Given the description of an element on the screen output the (x, y) to click on. 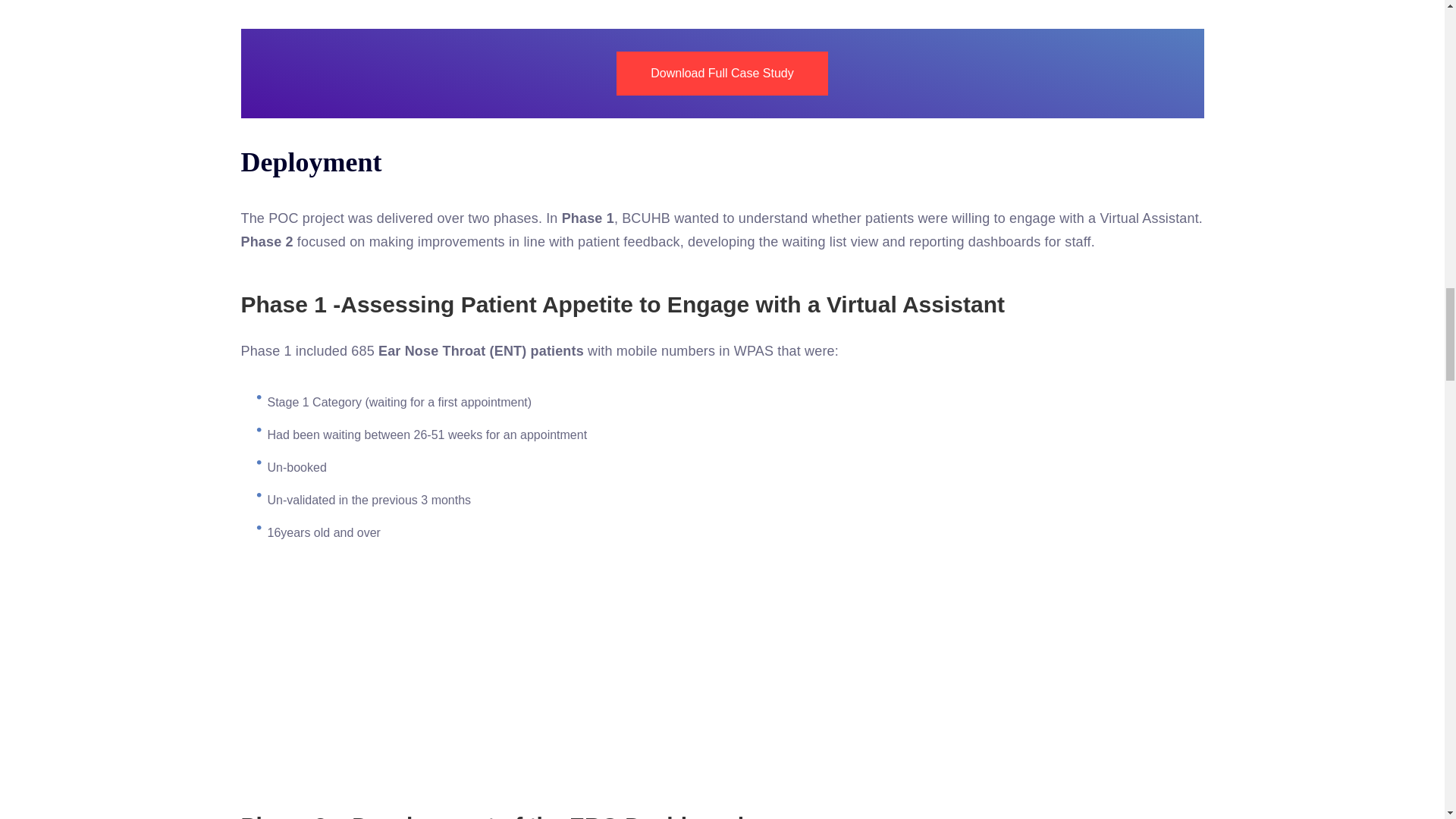
Download Full Case Study (721, 73)
